Given the description of an element on the screen output the (x, y) to click on. 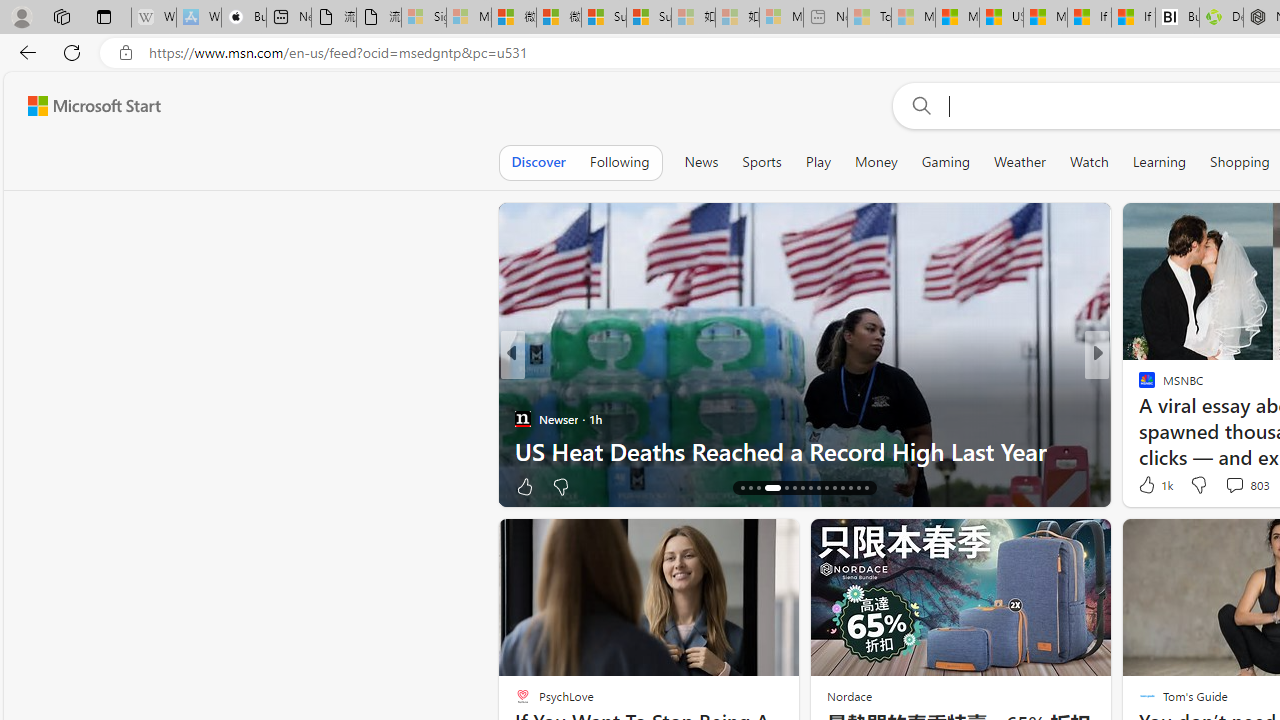
Newser (522, 418)
View comments 65 Comment (1234, 485)
View comments 803 Comment (1234, 485)
AutomationID: tab-18 (757, 487)
142 Like (1151, 486)
AutomationID: tab-16 (742, 487)
